Given the description of an element on the screen output the (x, y) to click on. 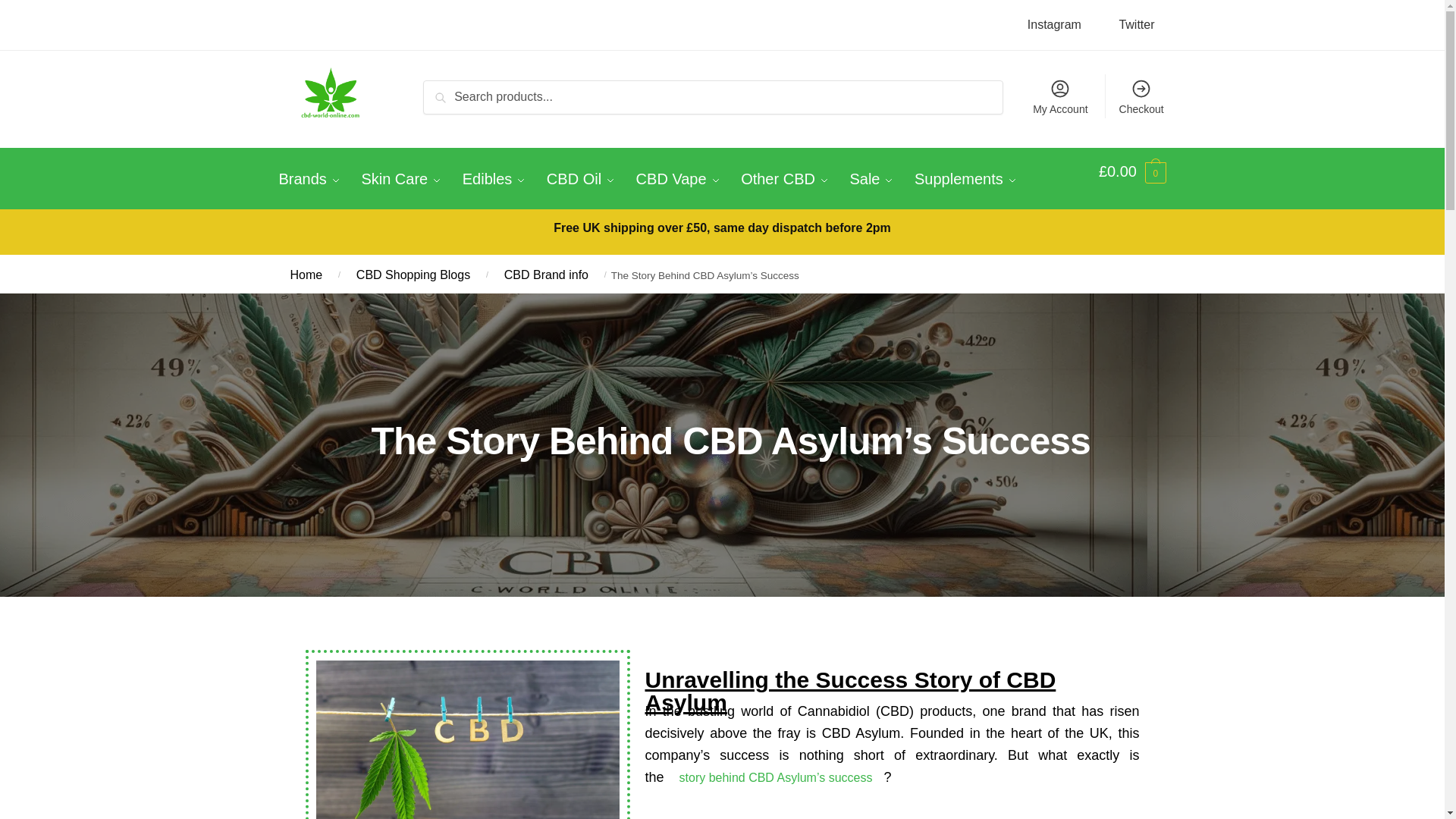
View your shopping cart (1132, 170)
My Account (1060, 95)
Search (449, 92)
Checkout (1141, 95)
Brands (314, 178)
Twitter (1136, 24)
Instagram (1054, 24)
